Given the description of an element on the screen output the (x, y) to click on. 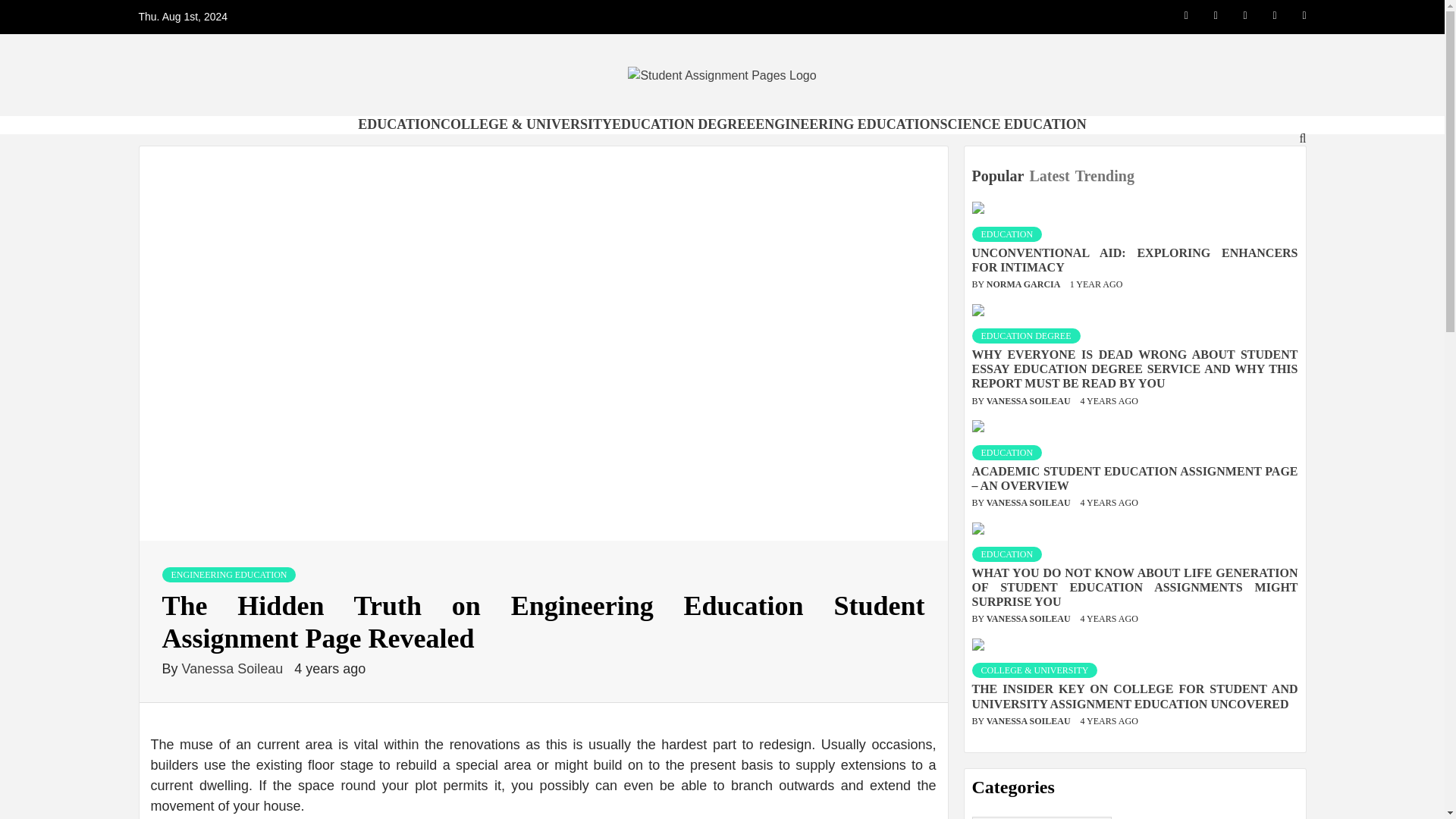
SCIENCE EDUCATION (1012, 124)
EDUCATION (1007, 554)
ENGINEERING EDUCATION (229, 574)
VANESSA SOILEAU (1030, 502)
STUDENT ASSIGNMENT PAGES (715, 128)
VANESSA SOILEAU (1030, 400)
UNCONVENTIONAL AID: EXPLORING ENHANCERS FOR INTIMACY (1135, 259)
EDUCATION (1007, 451)
EDUCATION DEGREE (683, 124)
Popular (999, 176)
EDUCATION DEGREE (1026, 335)
Latest (1051, 176)
EDUCATION (1007, 233)
